Given the description of an element on the screen output the (x, y) to click on. 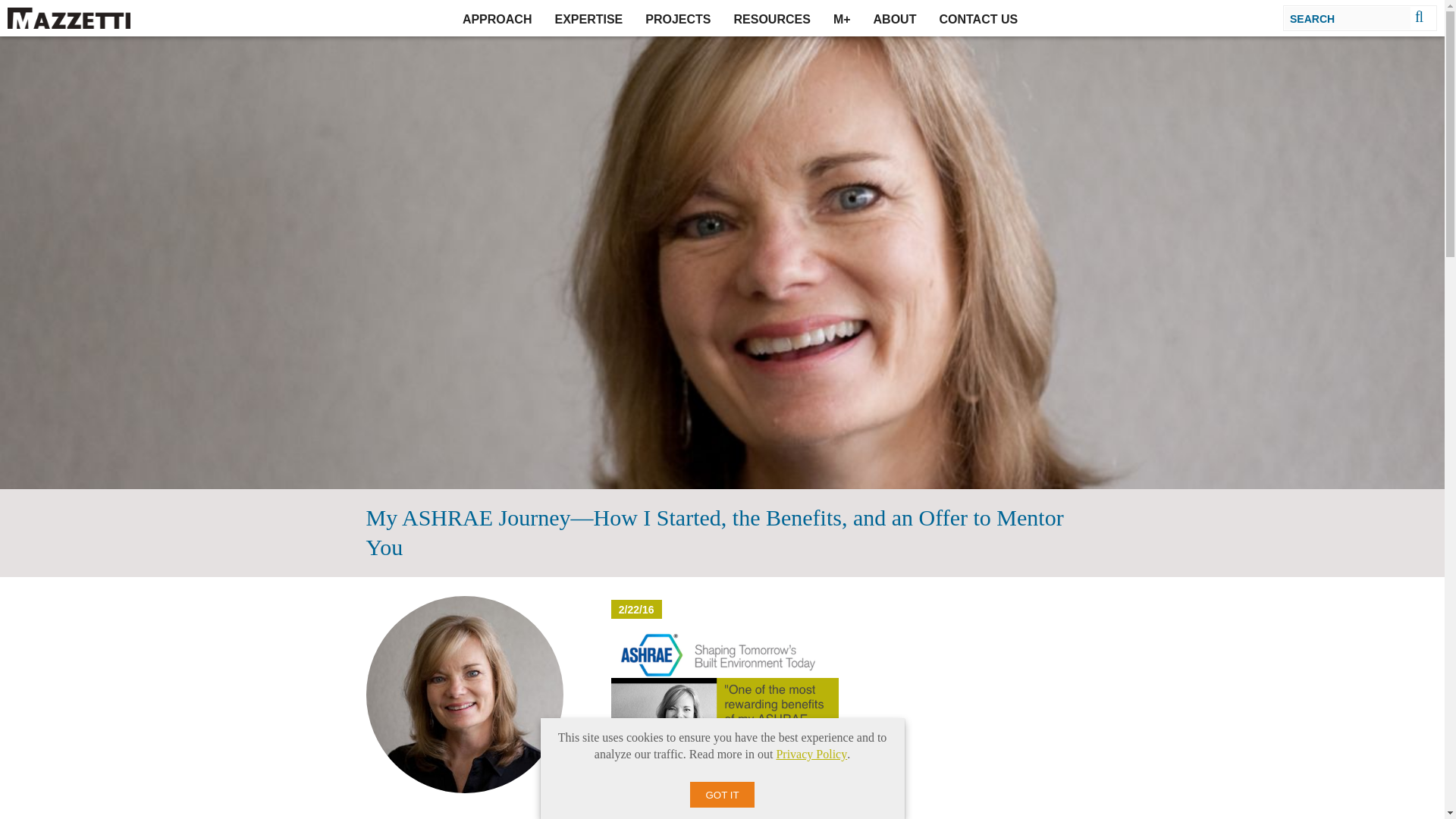
Search for: (1348, 17)
APPROACH (497, 18)
ABOUT (894, 18)
EXPERTISE (588, 18)
RESOURCES (772, 18)
PROJECTS (677, 18)
